Given the description of an element on the screen output the (x, y) to click on. 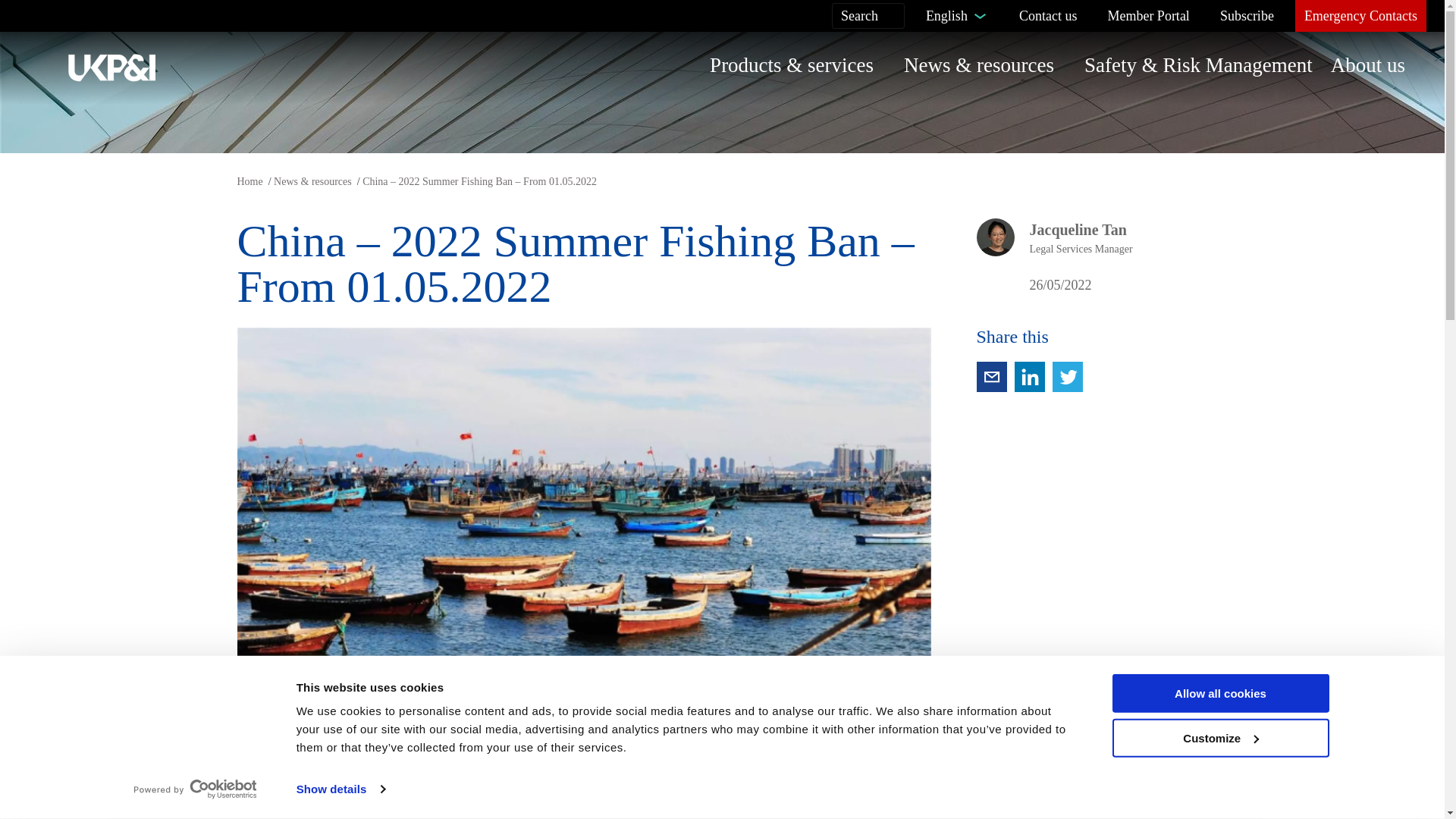
Customize (1219, 738)
Show details (340, 789)
Allow all cookies (1219, 693)
